Given the description of an element on the screen output the (x, y) to click on. 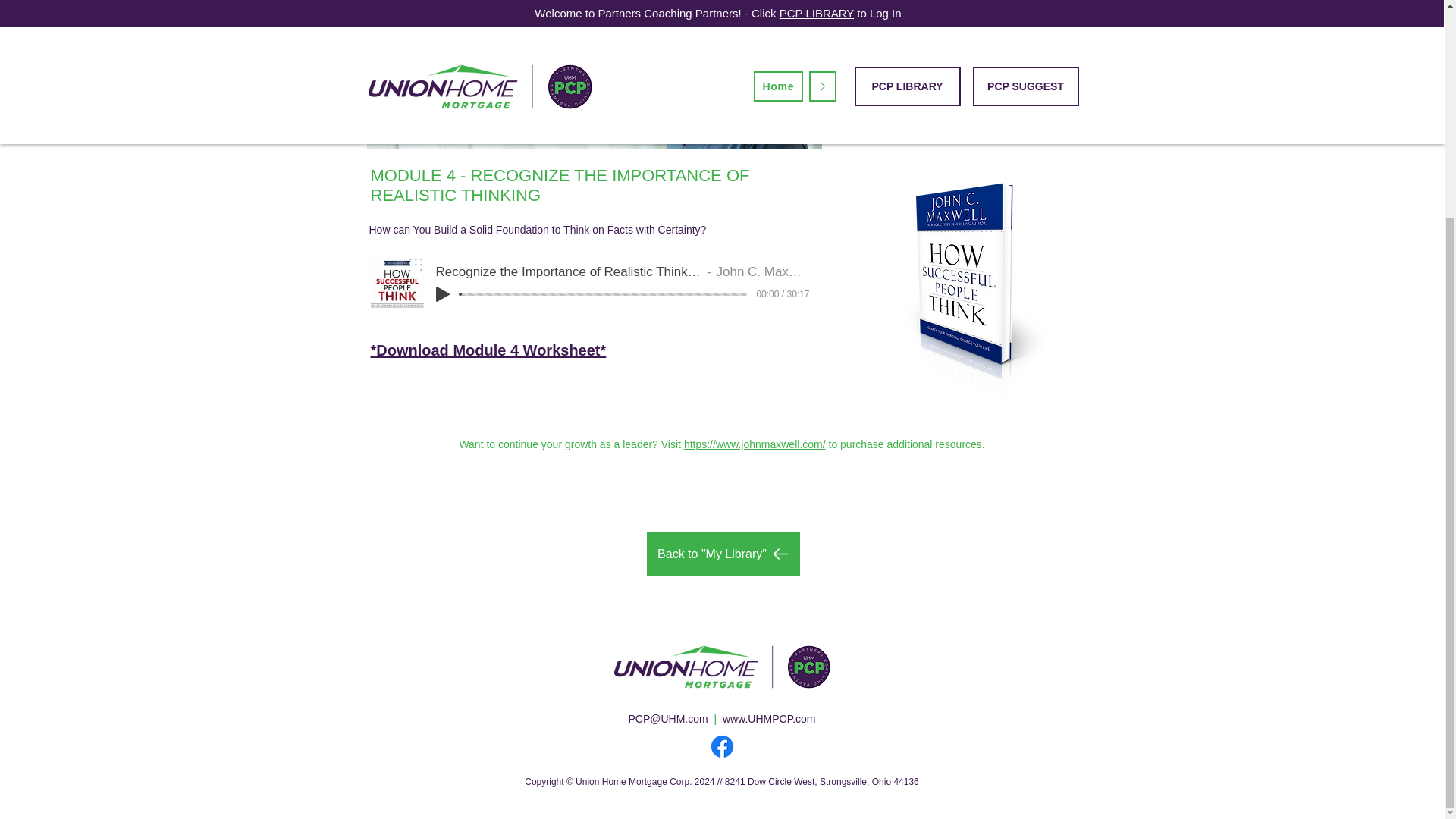
0 (603, 294)
 to purchase additional resources.  (906, 444)
www.UHMPCP.com (768, 718)
Back to "My Library" (722, 553)
